Given the description of an element on the screen output the (x, y) to click on. 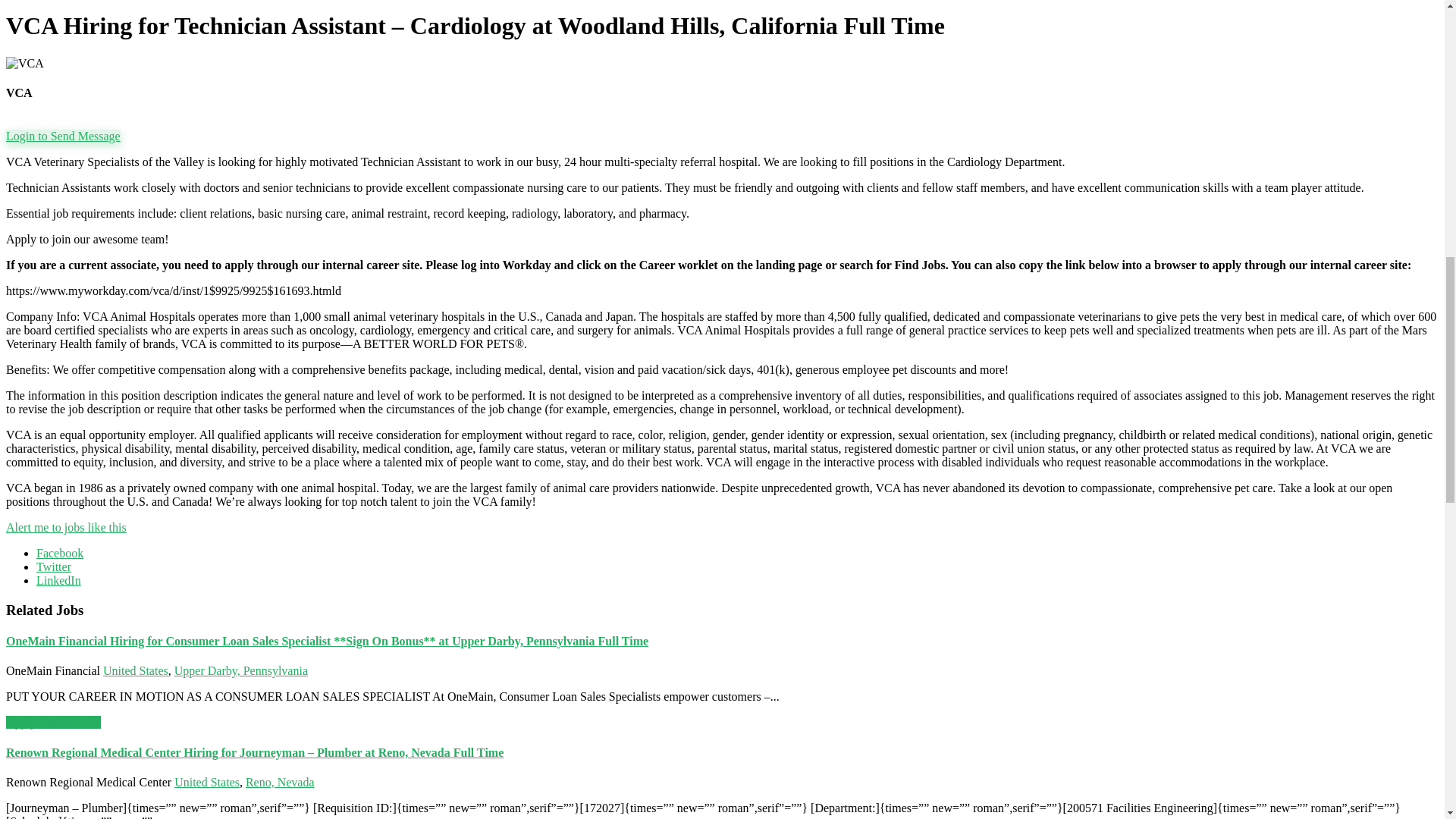
Upper Darby, Pennsylvania (240, 670)
Twitter (53, 566)
LinkedIn (58, 580)
United States (135, 670)
Reno, Nevada (280, 781)
Apply For This Job (52, 721)
Alert me to jobs like this (65, 526)
Login to Send Message (62, 135)
Facebook (59, 553)
United States (207, 781)
Twitter (53, 566)
